Given the description of an element on the screen output the (x, y) to click on. 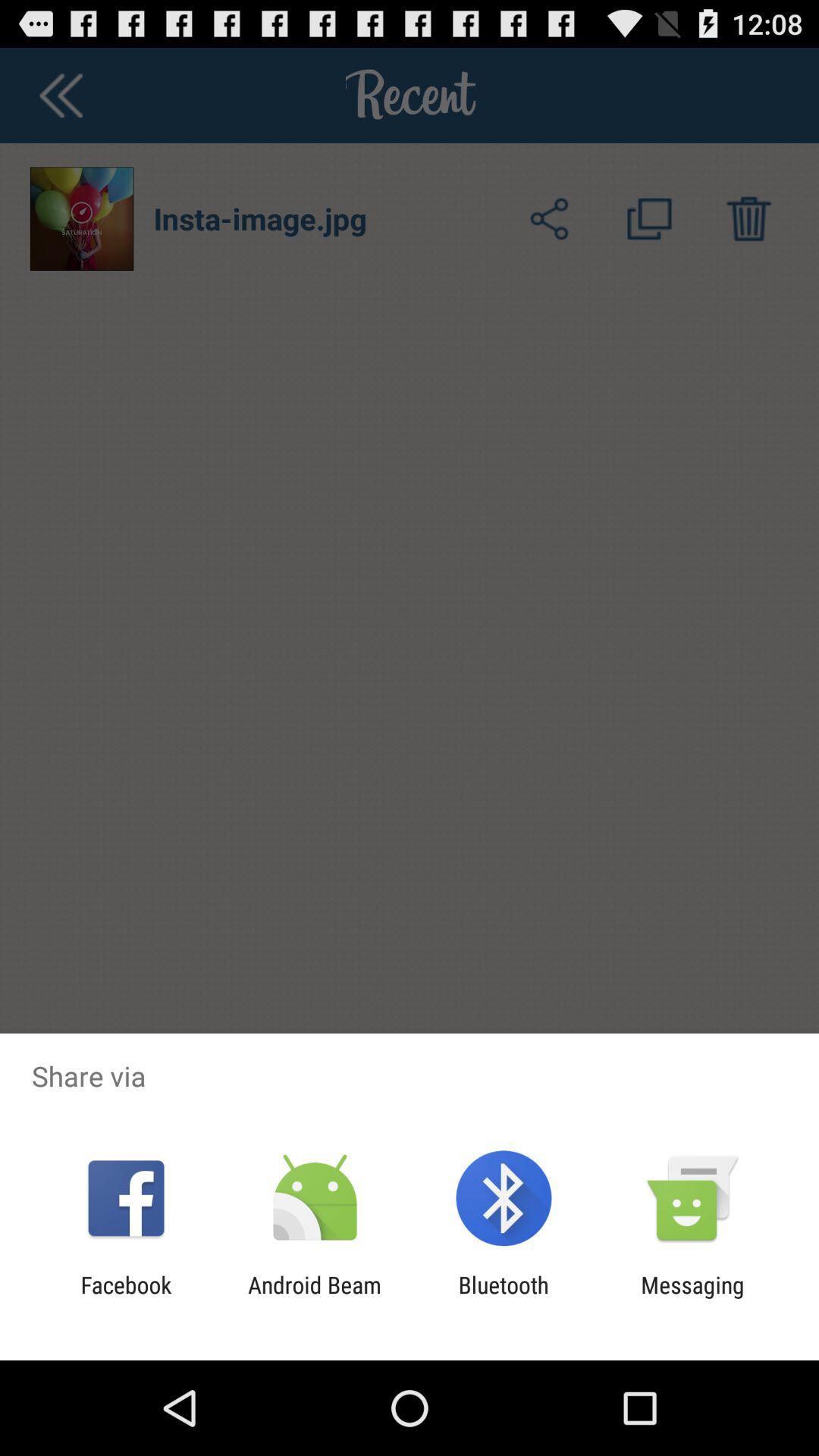
launch the facebook app (125, 1298)
